Given the description of an element on the screen output the (x, y) to click on. 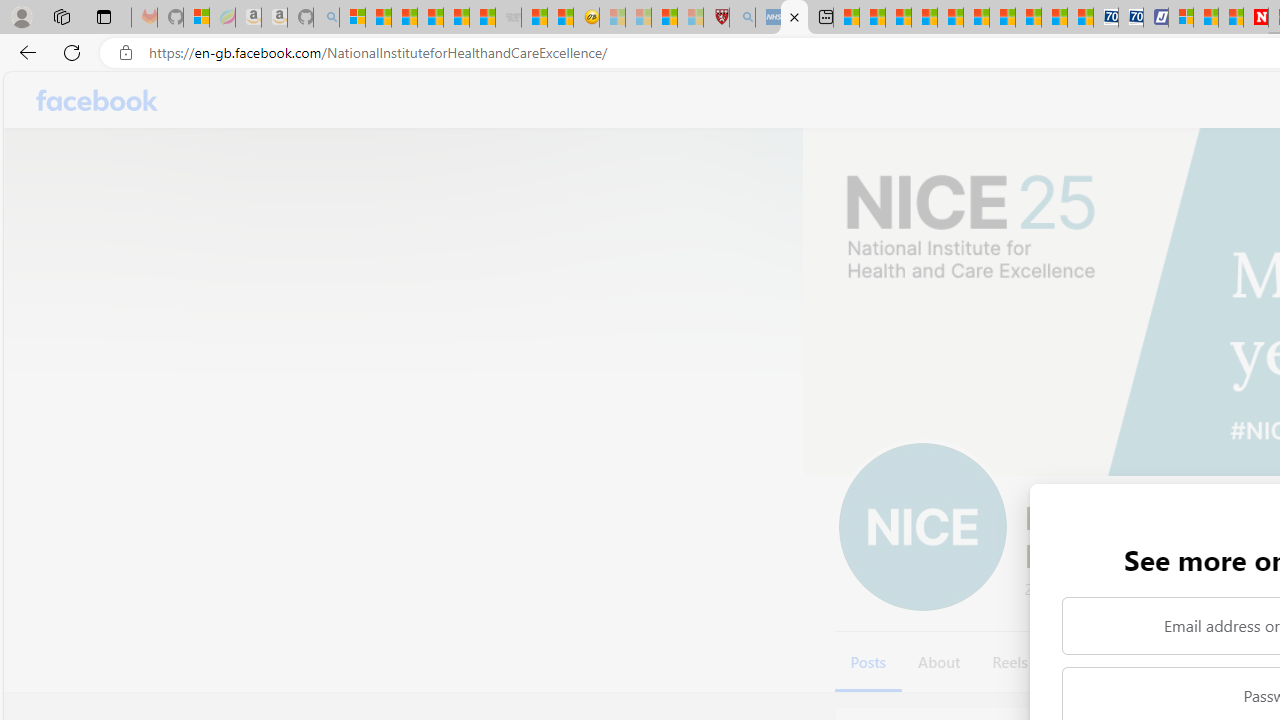
New Report Confirms 2023 Was Record Hot | Watch (456, 17)
Combat Siege - Sleeping (507, 17)
